Given the description of an element on the screen output the (x, y) to click on. 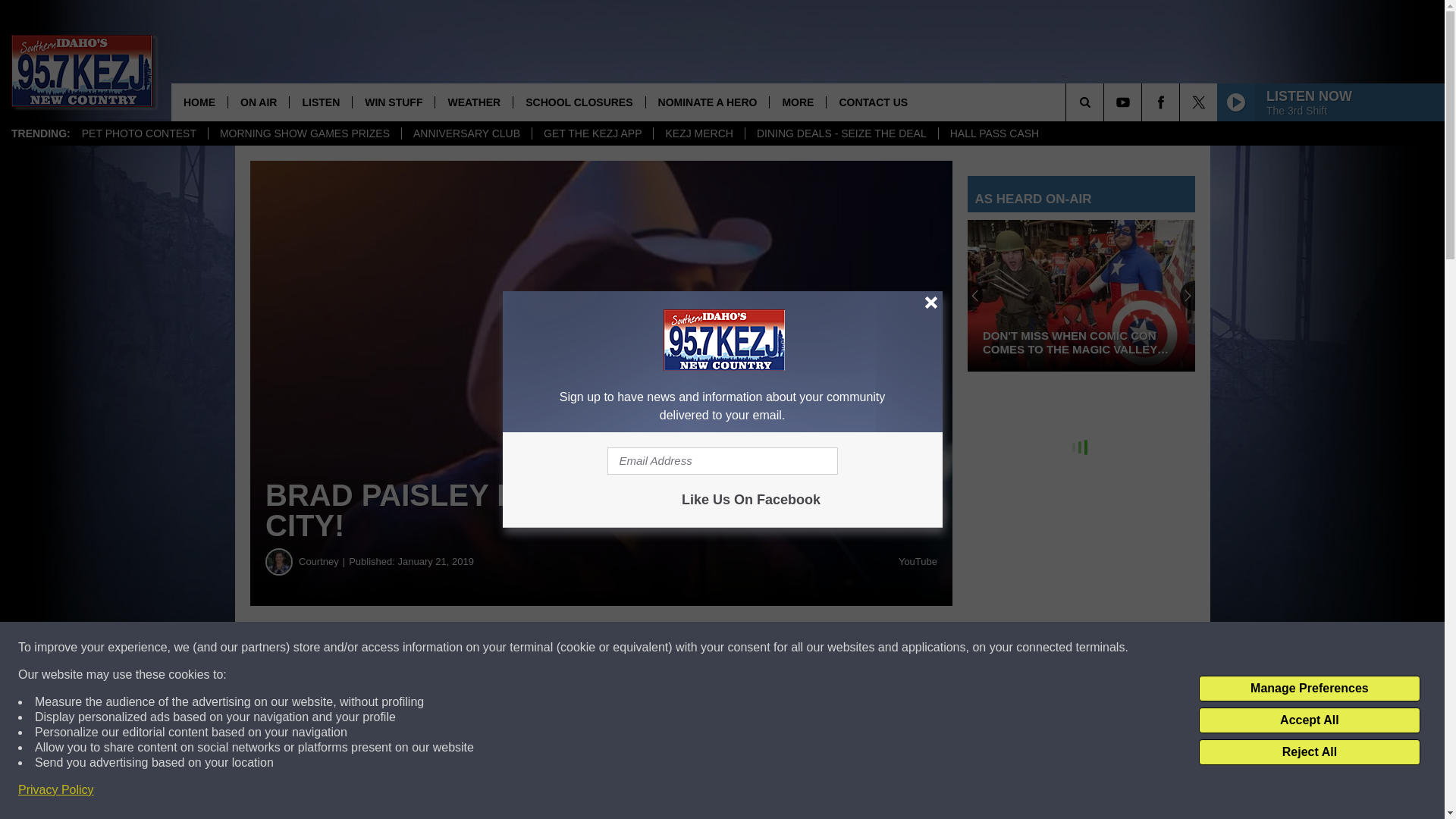
GET THE KEZJ APP (591, 133)
MORNING SHOW GAMES PRIZES (304, 133)
WEATHER (472, 102)
Accept All (1309, 720)
KEZJ MERCH (698, 133)
ON AIR (257, 102)
HOME (199, 102)
Manage Preferences (1309, 688)
Reject All (1309, 751)
Share on Twitter (741, 647)
Share on Facebook (460, 647)
DINING DEALS - SEIZE THE DEAL (840, 133)
SEARCH (1106, 102)
HALL PASS CASH (994, 133)
Email Address (722, 461)
